Given the description of an element on the screen output the (x, y) to click on. 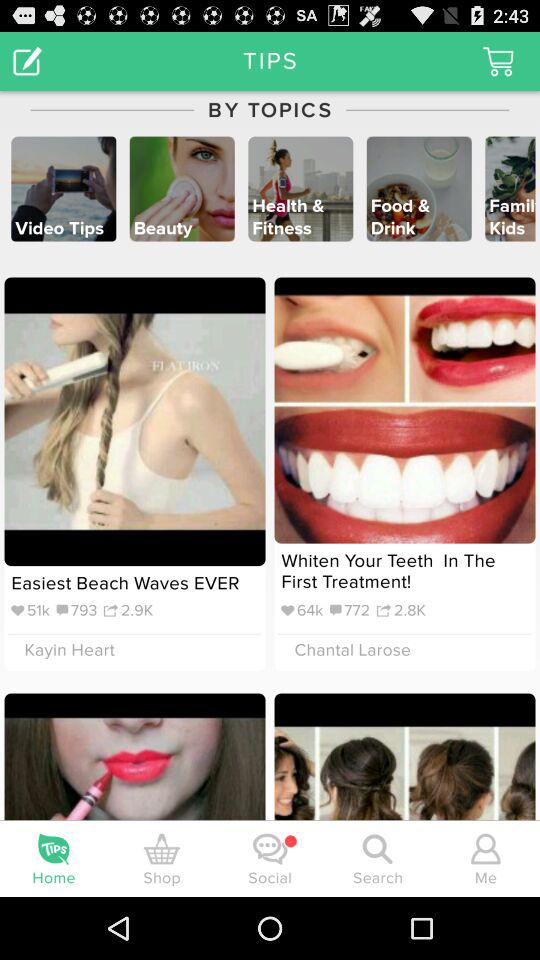
create post (27, 60)
